Given the description of an element on the screen output the (x, y) to click on. 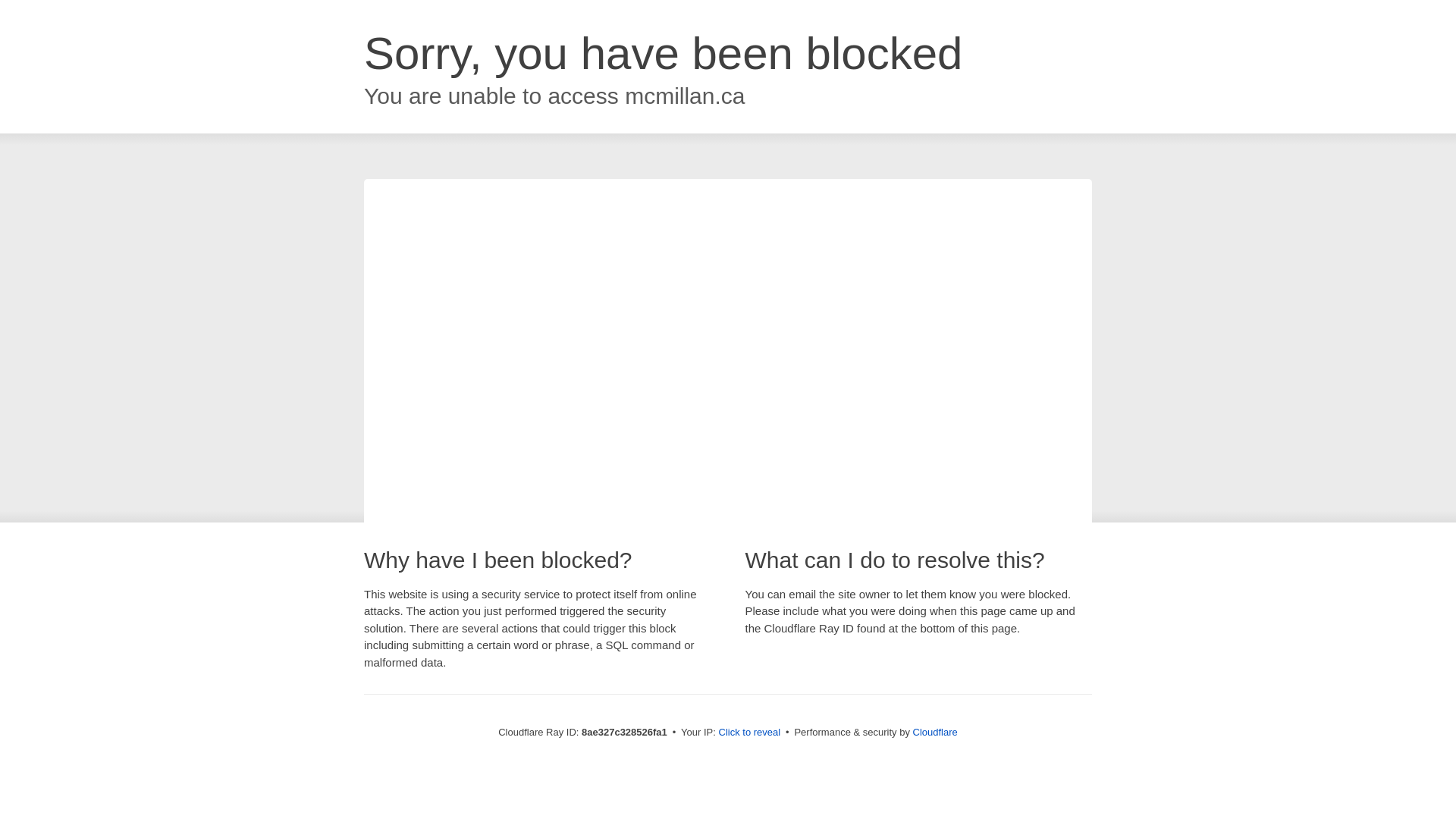
Click to reveal (749, 732)
Cloudflare (935, 731)
